Given the description of an element on the screen output the (x, y) to click on. 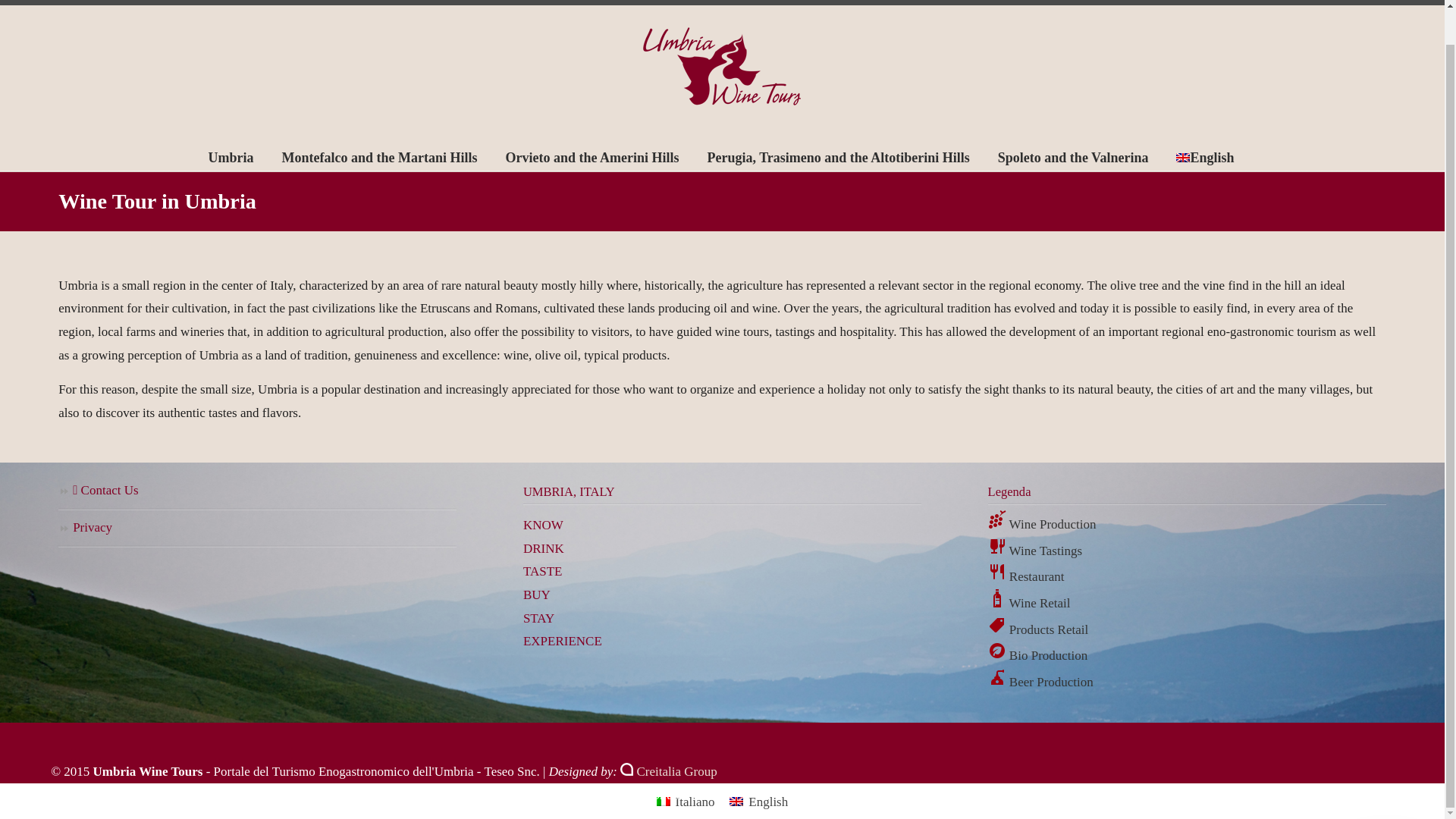
Spoleto and the Valnerina (1072, 157)
Montefalco and the Martani Hills (379, 157)
Privacy (257, 528)
Umbria Wine Tours (722, 66)
Umbria Wine Tours (722, 66)
Creitalia Group (668, 771)
Orvieto and the Amerini Hills (591, 157)
Contact Us (257, 491)
Umbria (231, 157)
TASTE (542, 571)
